Given the description of an element on the screen output the (x, y) to click on. 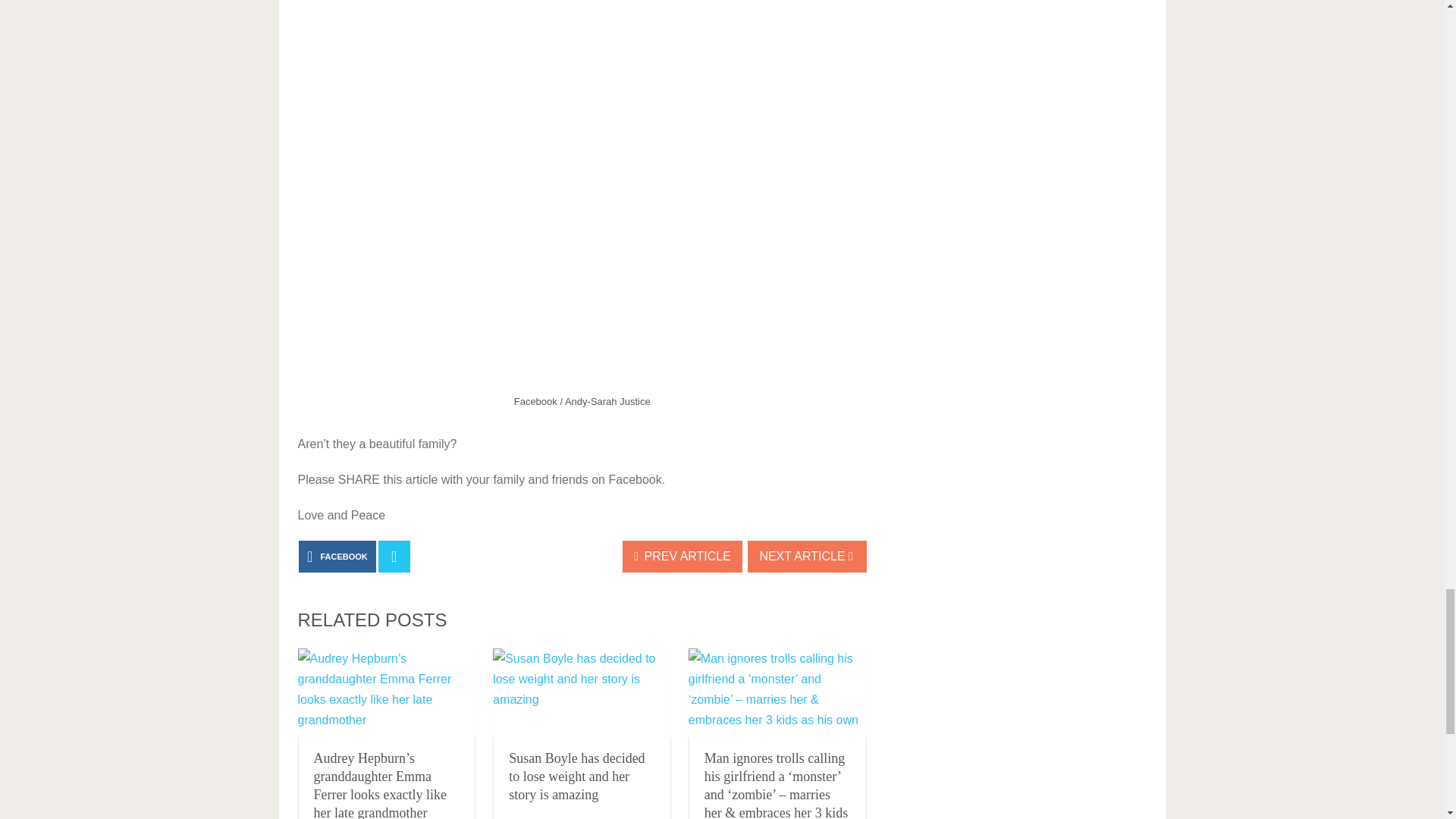
NEXT ARTICLE (807, 556)
FACEBOOK (336, 556)
PREV ARTICLE (682, 556)
